Given the description of an element on the screen output the (x, y) to click on. 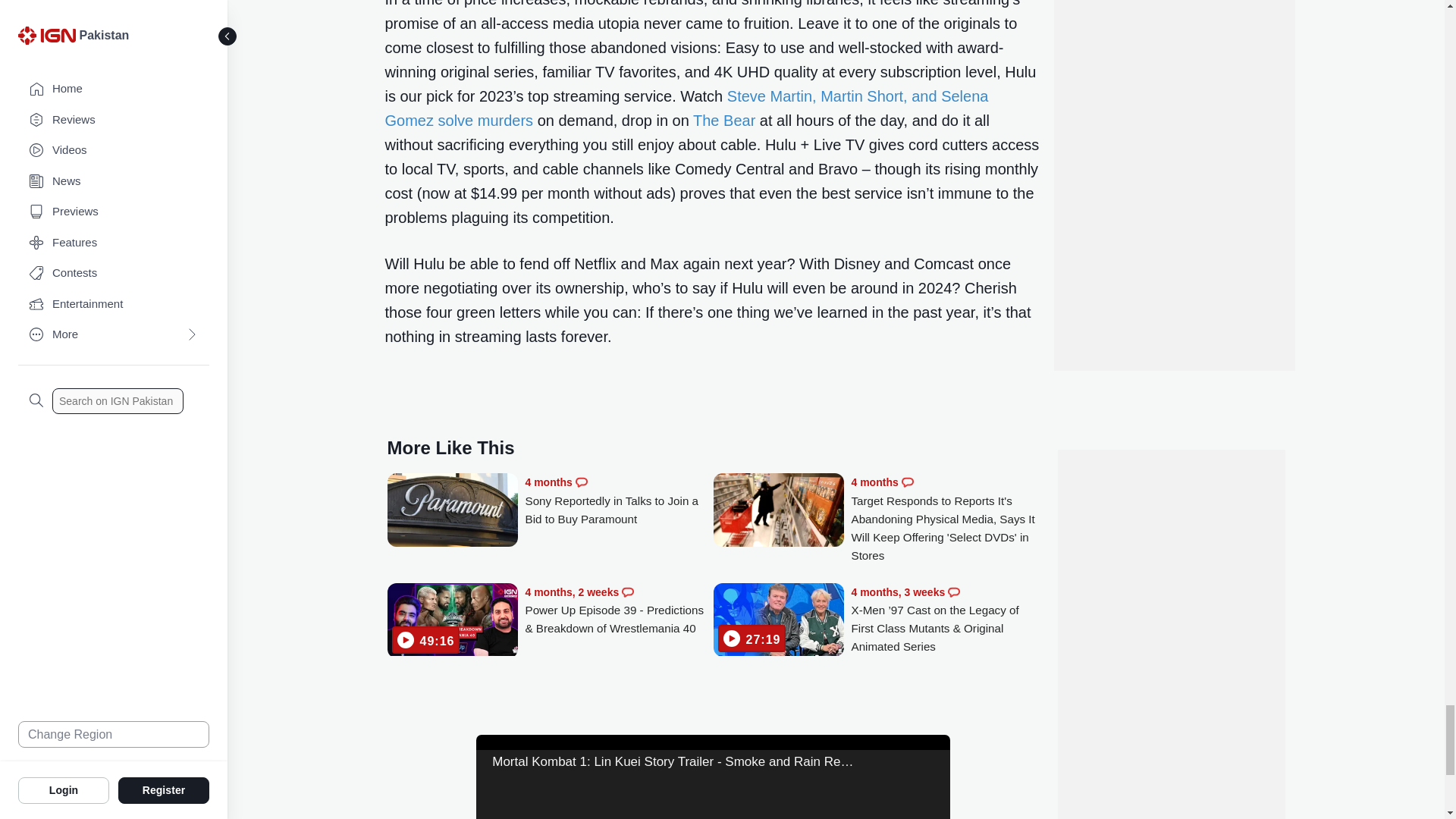
Comments (581, 481)
Comments (627, 592)
Comments (907, 481)
Sony Reportedly in Talks to Join a Bid to Buy Paramount (451, 511)
Sony Reportedly in Talks to Join a Bid to Buy Paramount (618, 500)
